Given the description of an element on the screen output the (x, y) to click on. 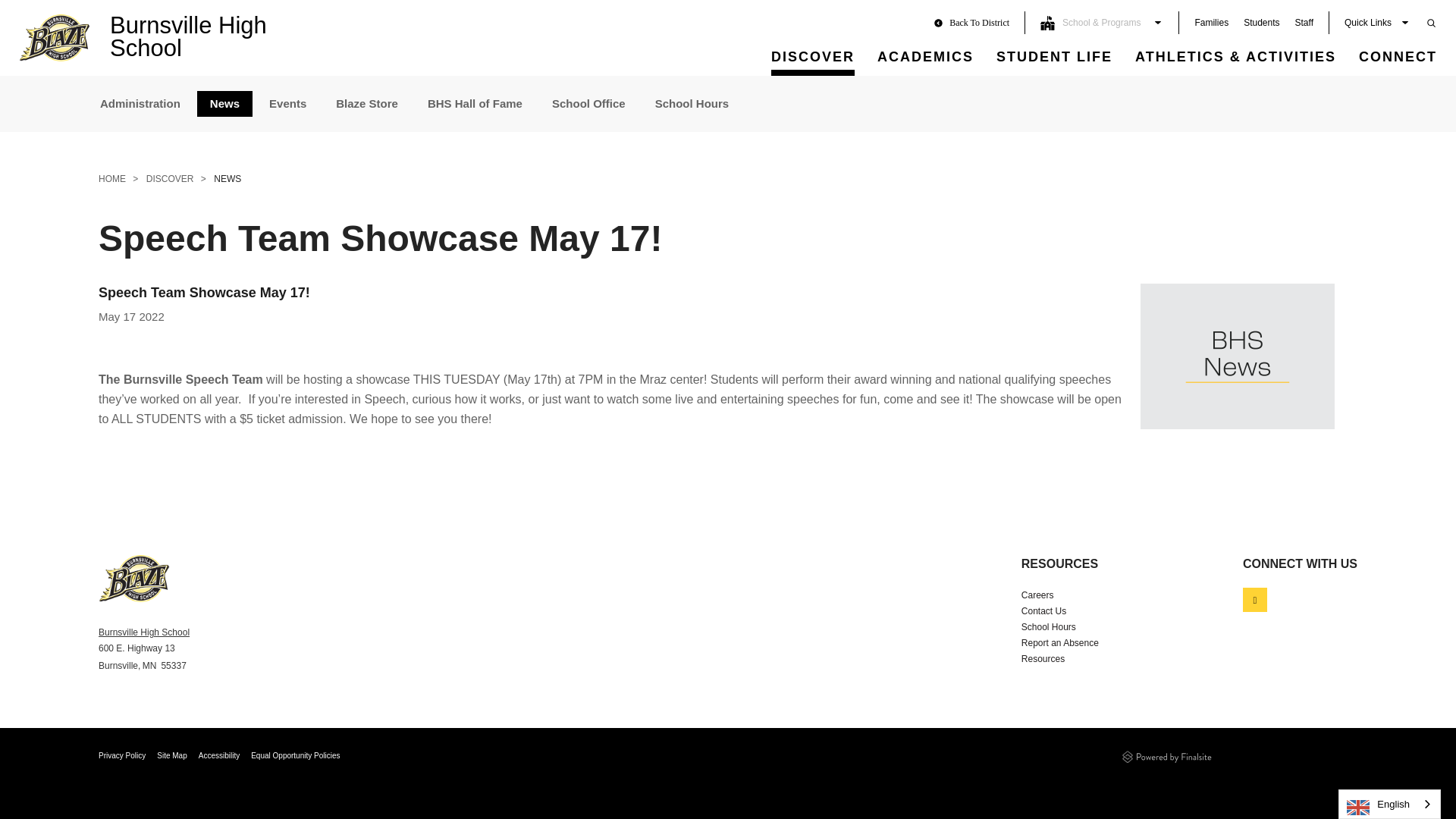
Back to District (979, 22)
